Given the description of an element on the screen output the (x, y) to click on. 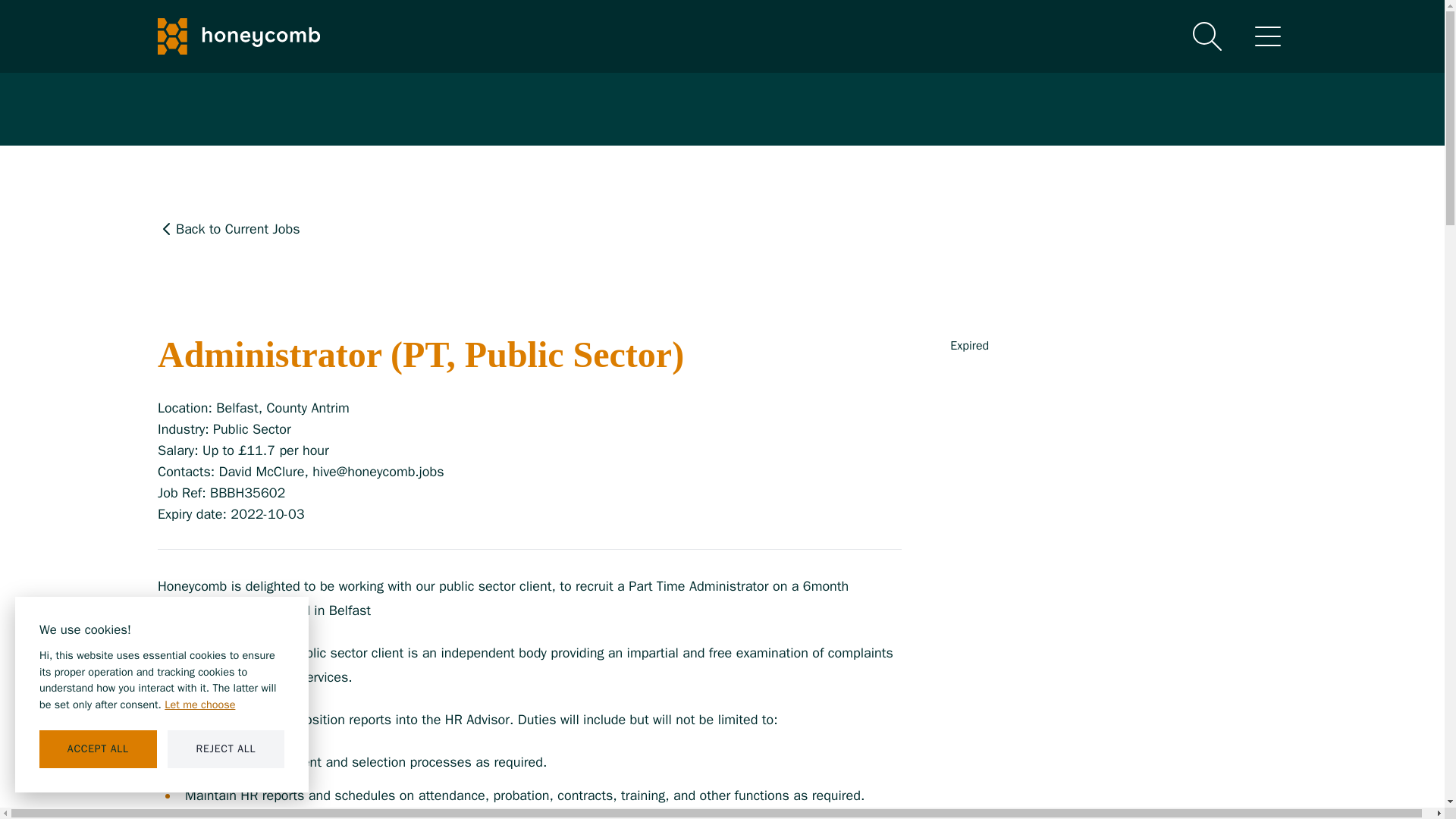
Let me choose (199, 704)
REJECT ALL (226, 749)
ACCEPT ALL (98, 749)
Back to Current Jobs (529, 228)
